Given the description of an element on the screen output the (x, y) to click on. 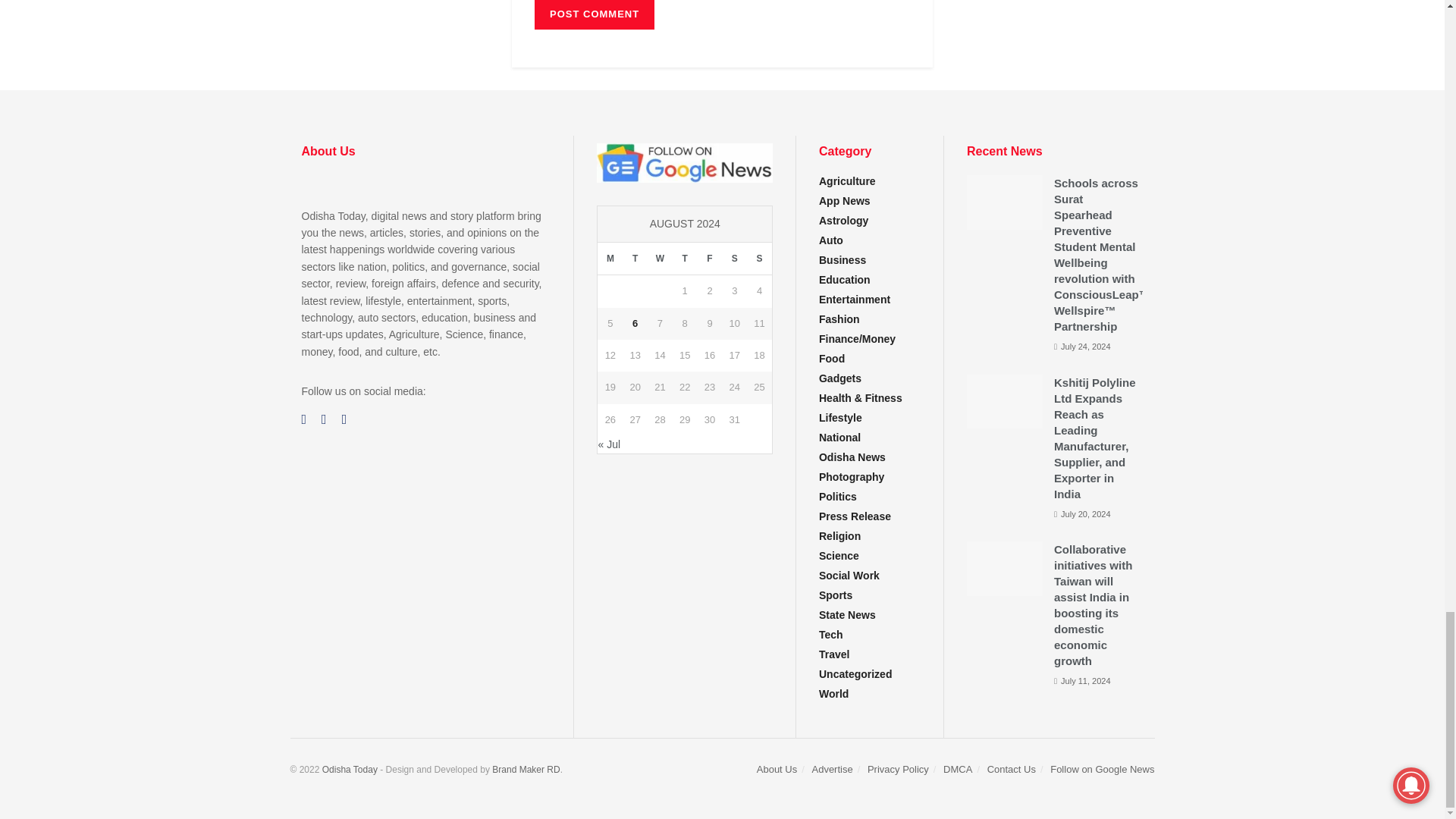
Post Comment (593, 14)
Odisha Today (350, 769)
Brand Maker RD (525, 769)
